Given the description of an element on the screen output the (x, y) to click on. 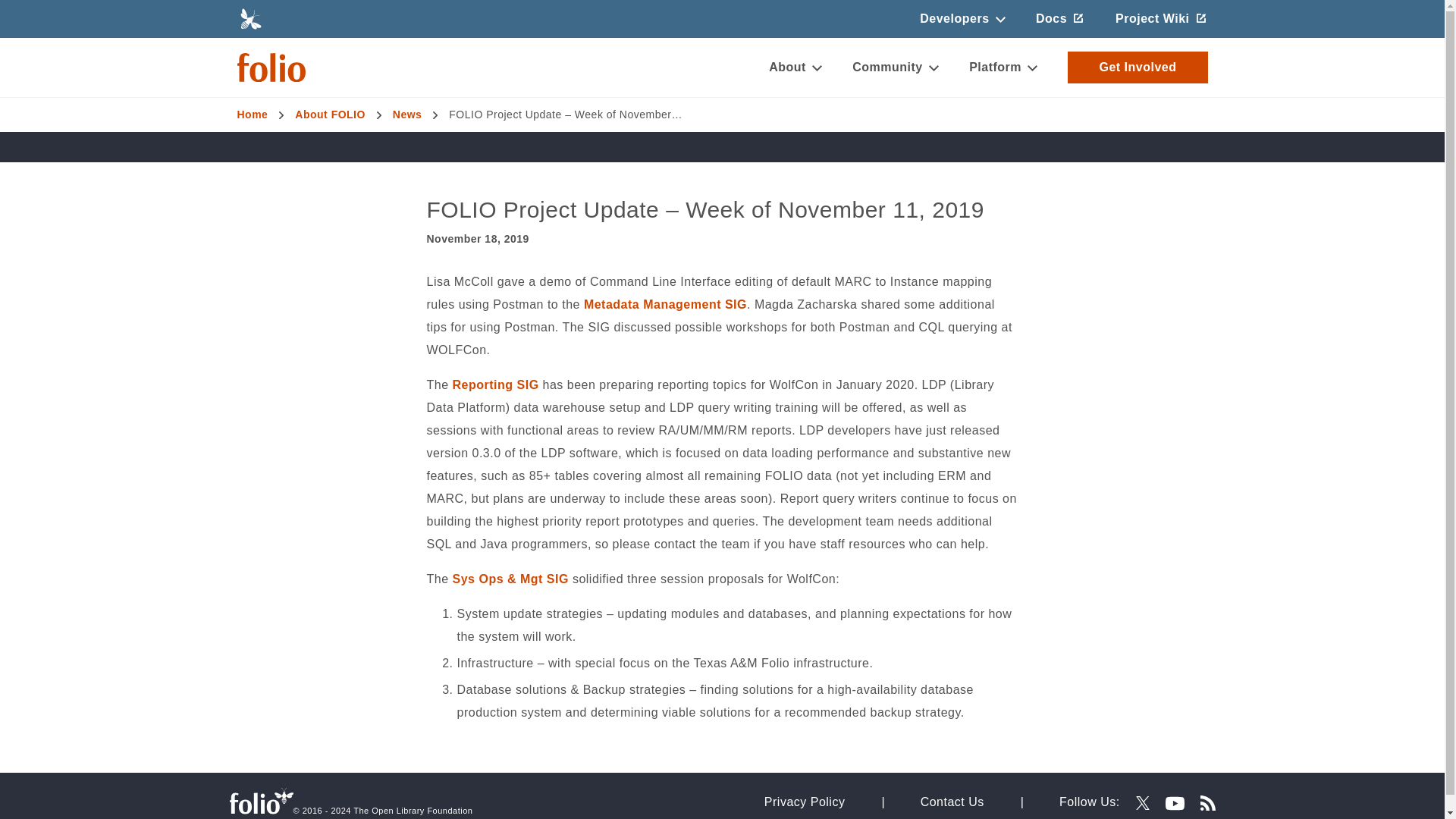
YouTube (1175, 803)
Developers (962, 18)
Get Involved (1137, 67)
About (795, 66)
Platform (1002, 66)
Twitter (1142, 802)
RSS feed (1206, 802)
Syndicate this site using RSS (1201, 801)
Twitter (1142, 802)
Community (895, 66)
